Given the description of an element on the screen output the (x, y) to click on. 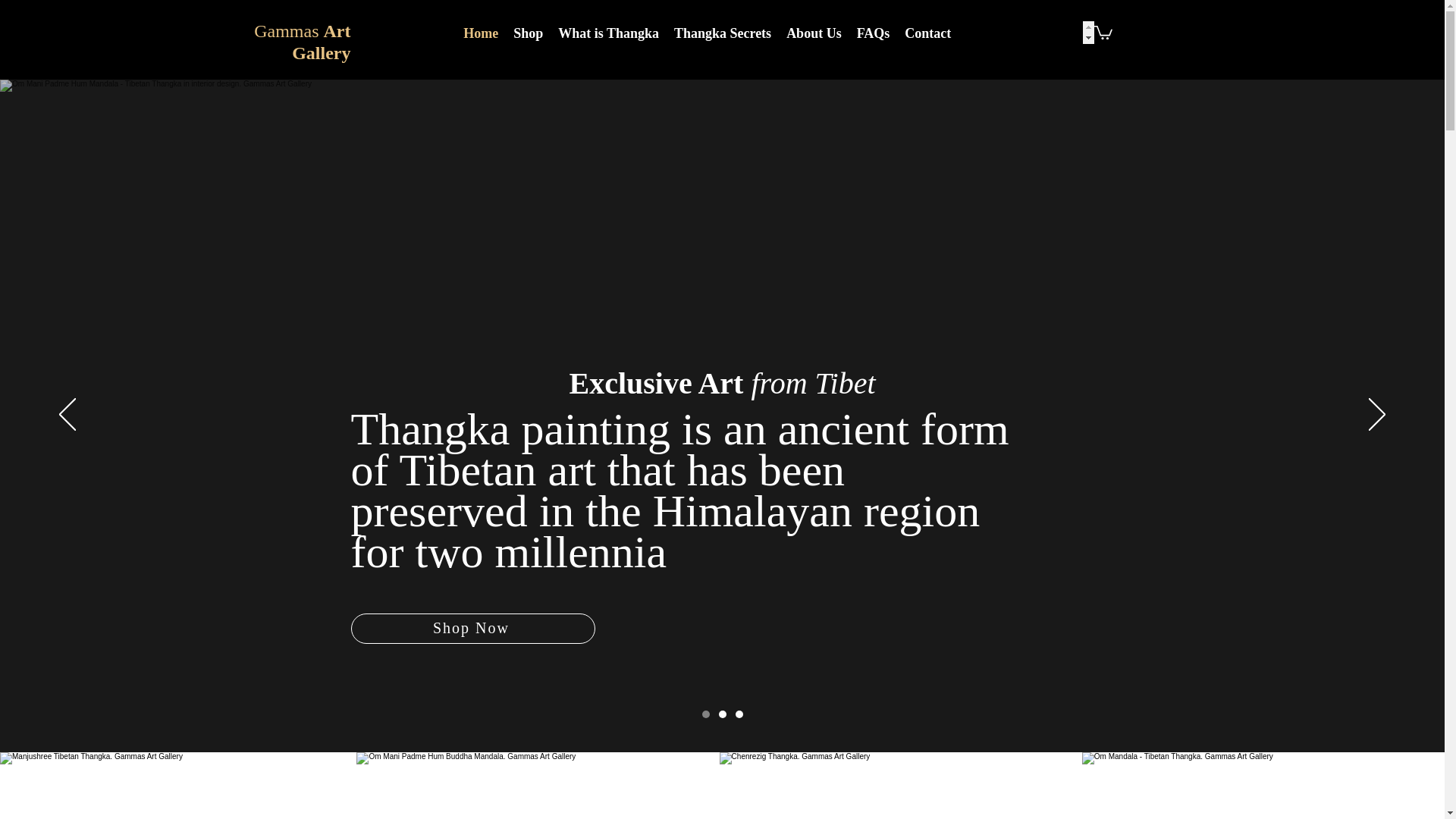
Shop Now (472, 628)
What is Thangka (608, 32)
Art Gallery (321, 42)
Thangka Secrets (722, 32)
Home (480, 32)
About Us (813, 32)
FAQs (873, 32)
Shop (527, 32)
Contact (927, 32)
Gammas (288, 30)
